Given the description of an element on the screen output the (x, y) to click on. 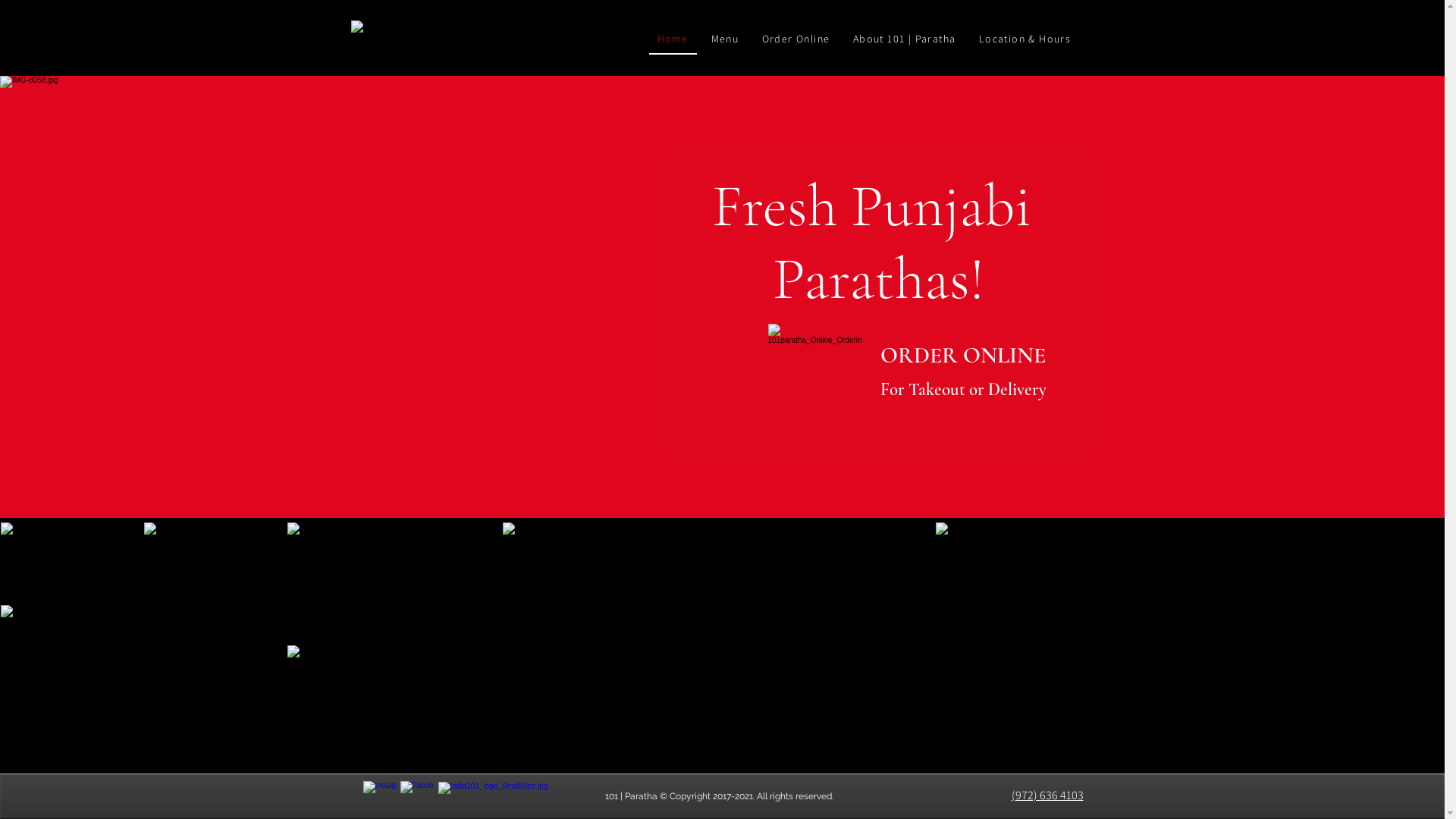
ORDER ONLINE Element type: text (961, 354)
Home Element type: text (672, 39)
Order Online Element type: text (795, 39)
Location & Hours Element type: text (1024, 39)
About 101 | Paratha Element type: text (904, 39)
Menu Element type: text (724, 39)
(972) 636 4103 Element type: text (1047, 795)
